Given the description of an element on the screen output the (x, y) to click on. 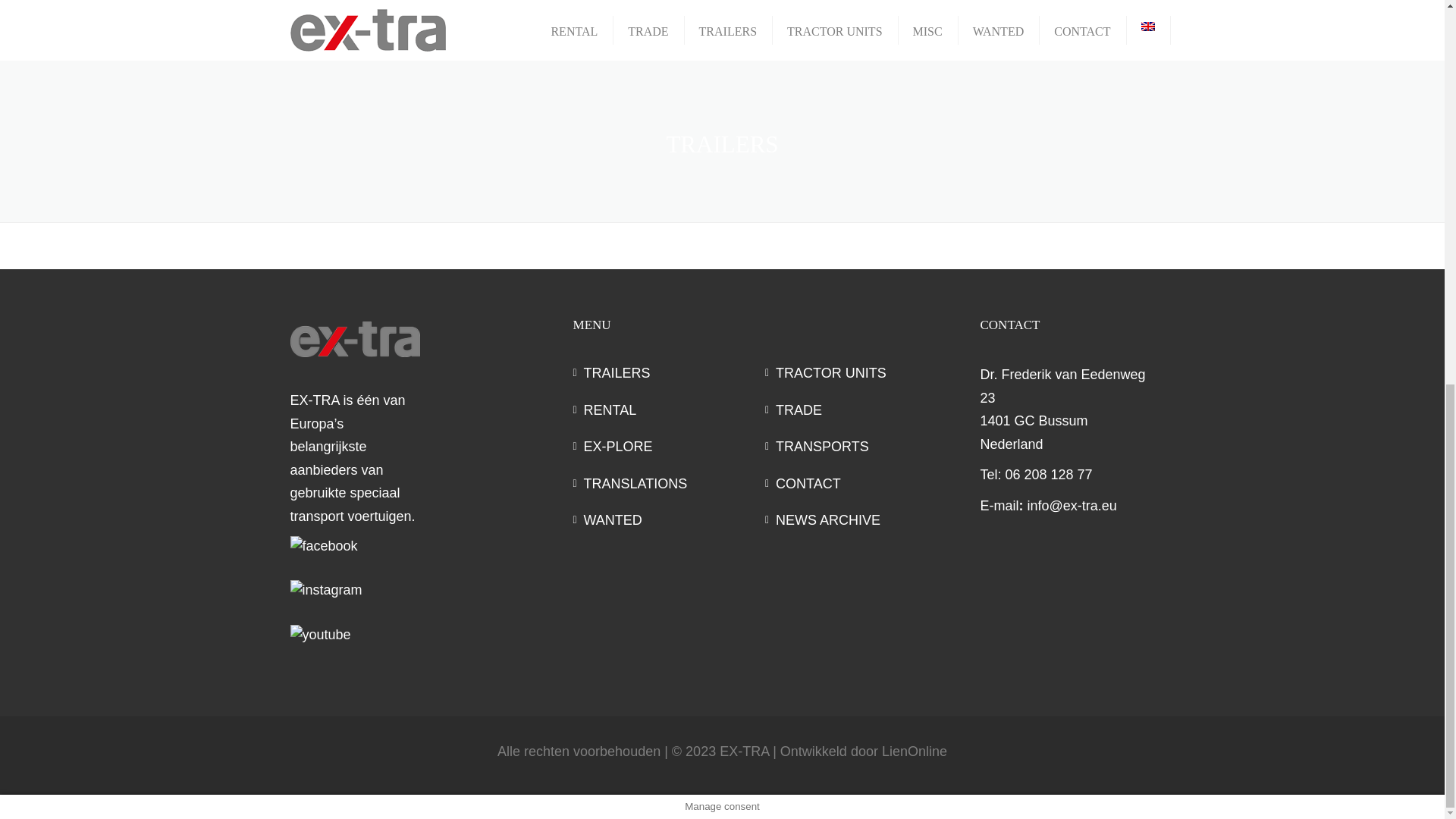
EX-PLORE (669, 446)
1 (1017, 148)
1 (1017, 7)
TRANSLATIONS (669, 484)
1 (722, 7)
TRADE (860, 410)
TRAILERS (669, 373)
TRACTOR UNITS (860, 373)
1 (425, 7)
WANTED (669, 520)
